Given the description of an element on the screen output the (x, y) to click on. 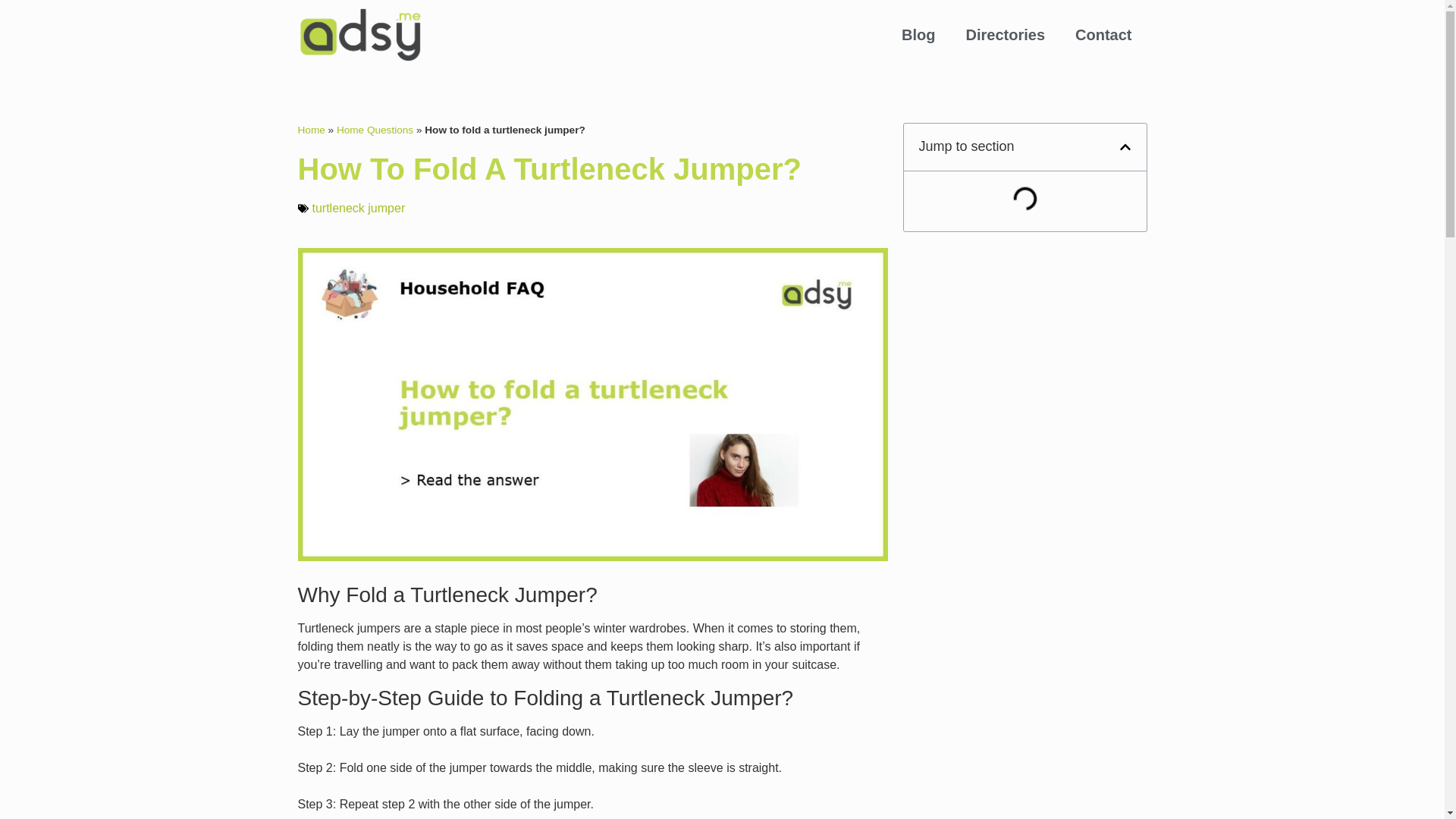
Blog (918, 34)
Directories (1005, 34)
Contact (1103, 34)
